Given the description of an element on the screen output the (x, y) to click on. 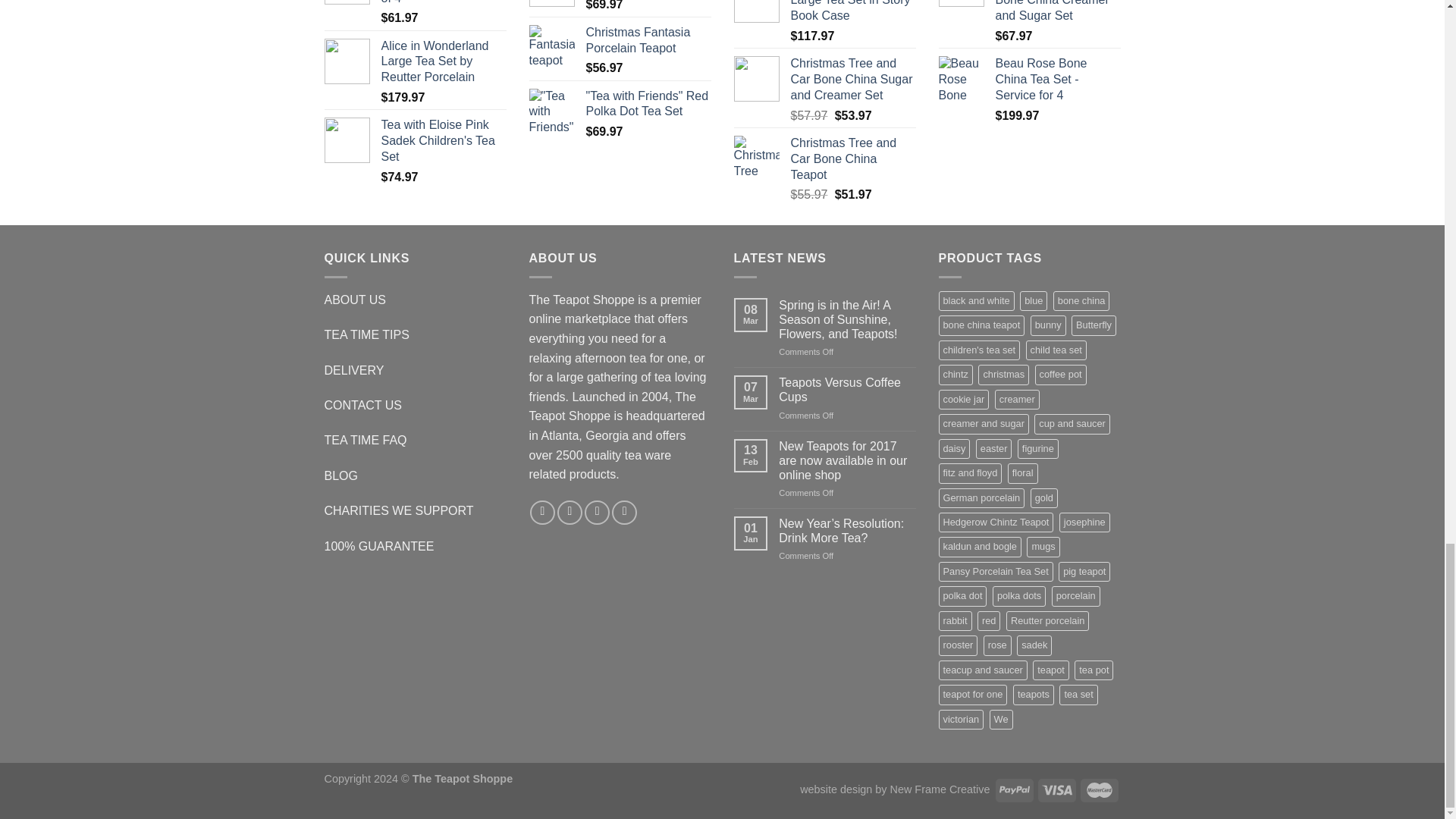
New Teapots for 2017 are now available in our online shop (846, 460)
Send us an email (597, 512)
Follow on Pinterest (624, 512)
Teapots Versus Coffee Cups (846, 389)
Follow on Facebook (541, 512)
Follow on Twitter (569, 512)
